Given the description of an element on the screen output the (x, y) to click on. 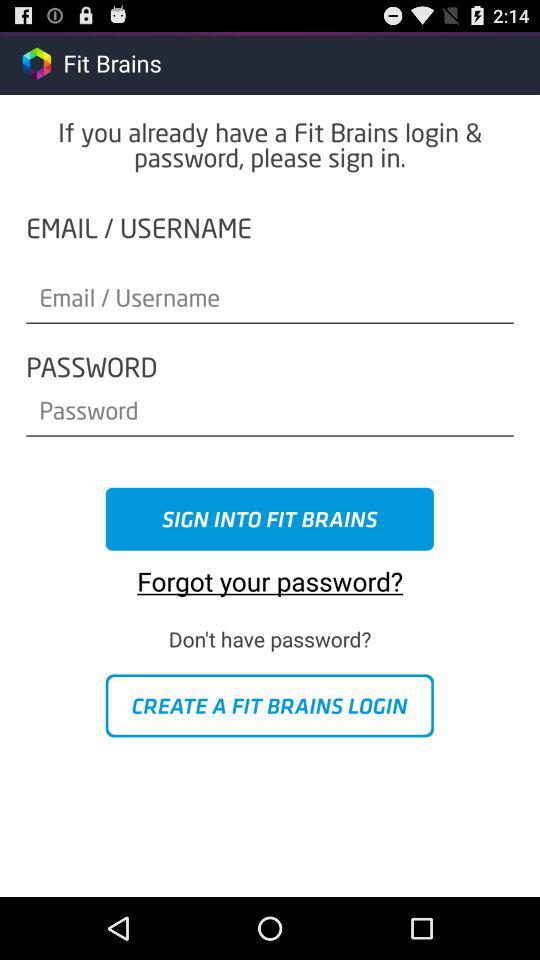
click on the button sign into fit brains (269, 519)
select the icon in the top left corner (36, 62)
select the icon which is left to the fit brains (36, 63)
